Given the description of an element on the screen output the (x, y) to click on. 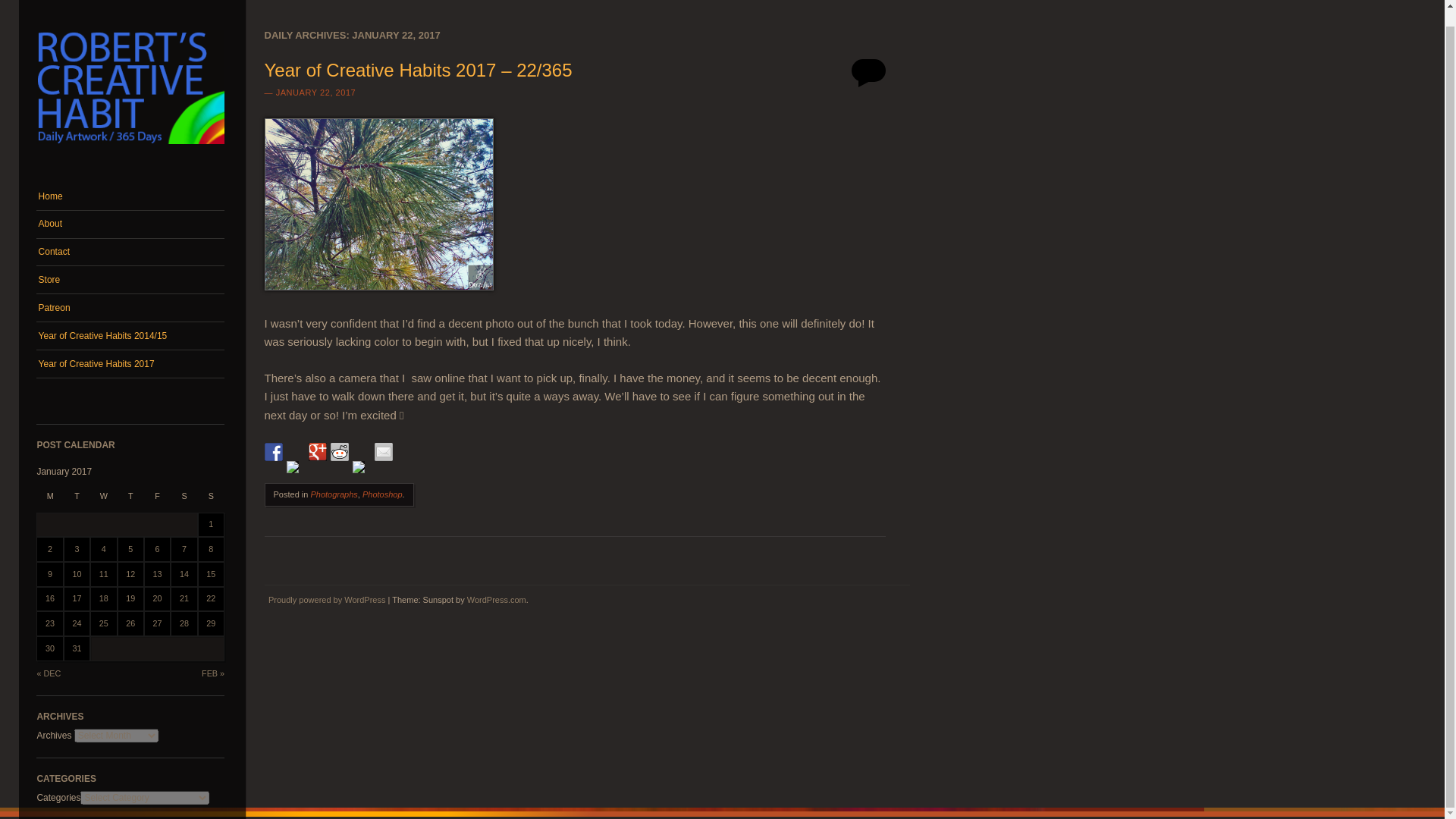
Friday (157, 500)
Saturday (183, 500)
About (130, 224)
ROBERT'S CREATIVE HABIT (285, 170)
22 (210, 597)
Skip to content (66, 190)
24 (76, 623)
Share on Facebook (272, 452)
11 (103, 573)
15 (210, 573)
28 (184, 623)
Tuesday (77, 500)
18 (103, 597)
Year of Creative Habits 2017 (130, 363)
Patreon (130, 307)
